Given the description of an element on the screen output the (x, y) to click on. 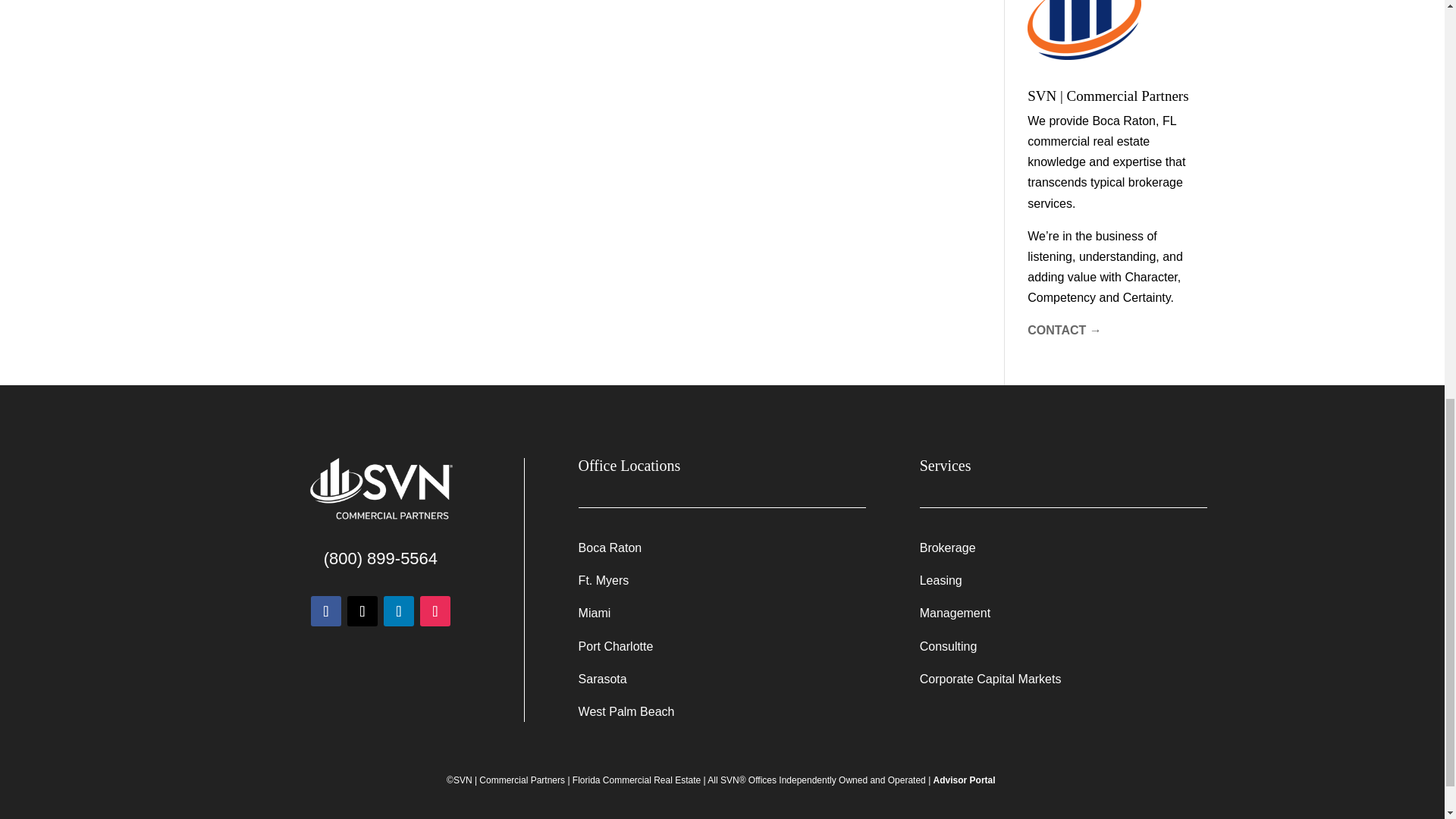
SVN Commercial Partners White Logo png (379, 489)
Follow on Instagram (434, 611)
Follow on Facebook (325, 611)
Follow on X (362, 611)
Follow on LinkedIn (398, 611)
